Given the description of an element on the screen output the (x, y) to click on. 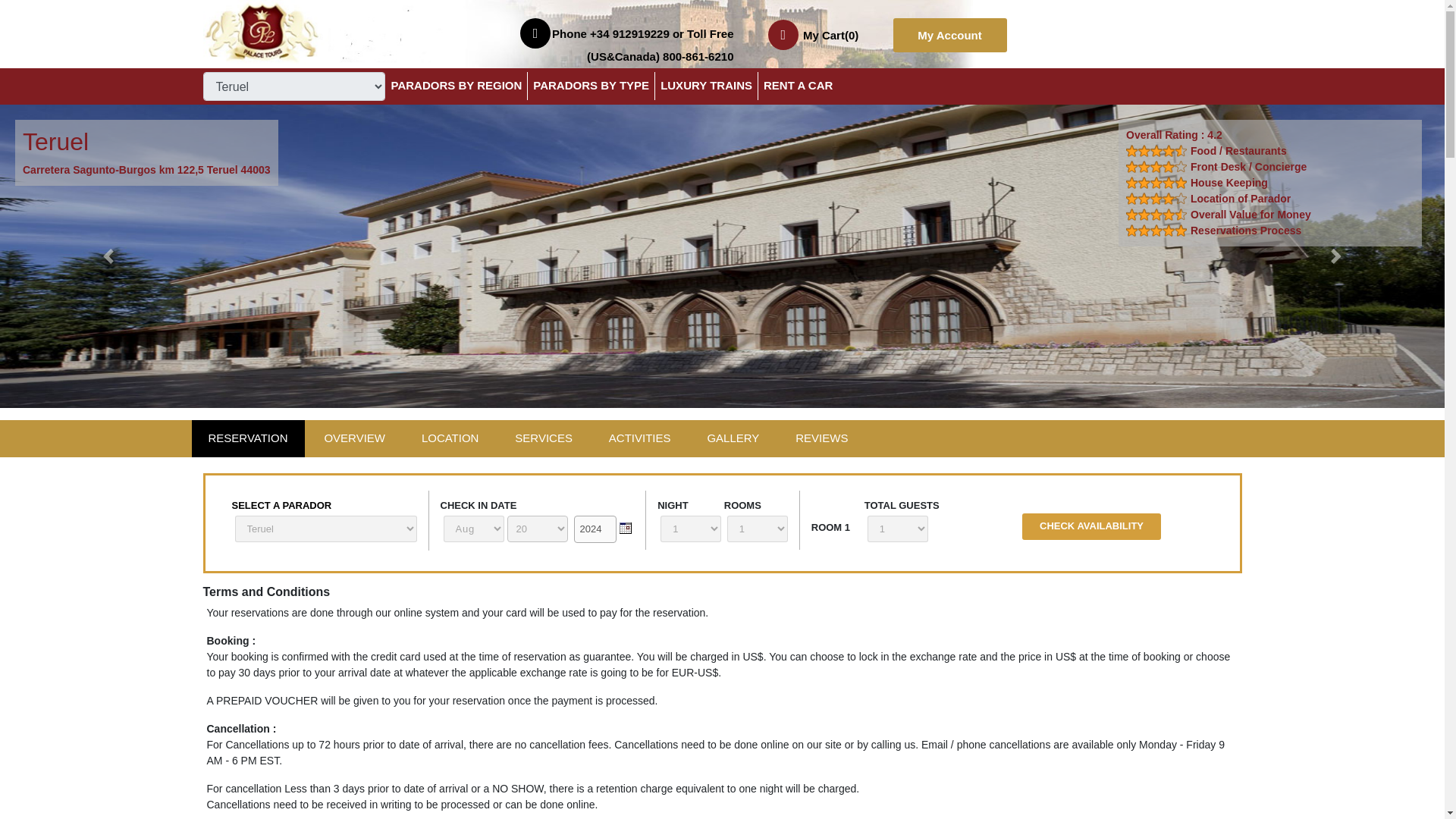
Calendar (624, 527)
2024 (594, 528)
PARADORS BY REGION (459, 85)
OVERVIEW (354, 438)
Year (594, 528)
GALLERY (733, 438)
LOCATION (450, 438)
RENT A CAR (794, 85)
LUXURY TRAINS (705, 85)
RESERVATION (247, 438)
